Given the description of an element on the screen output the (x, y) to click on. 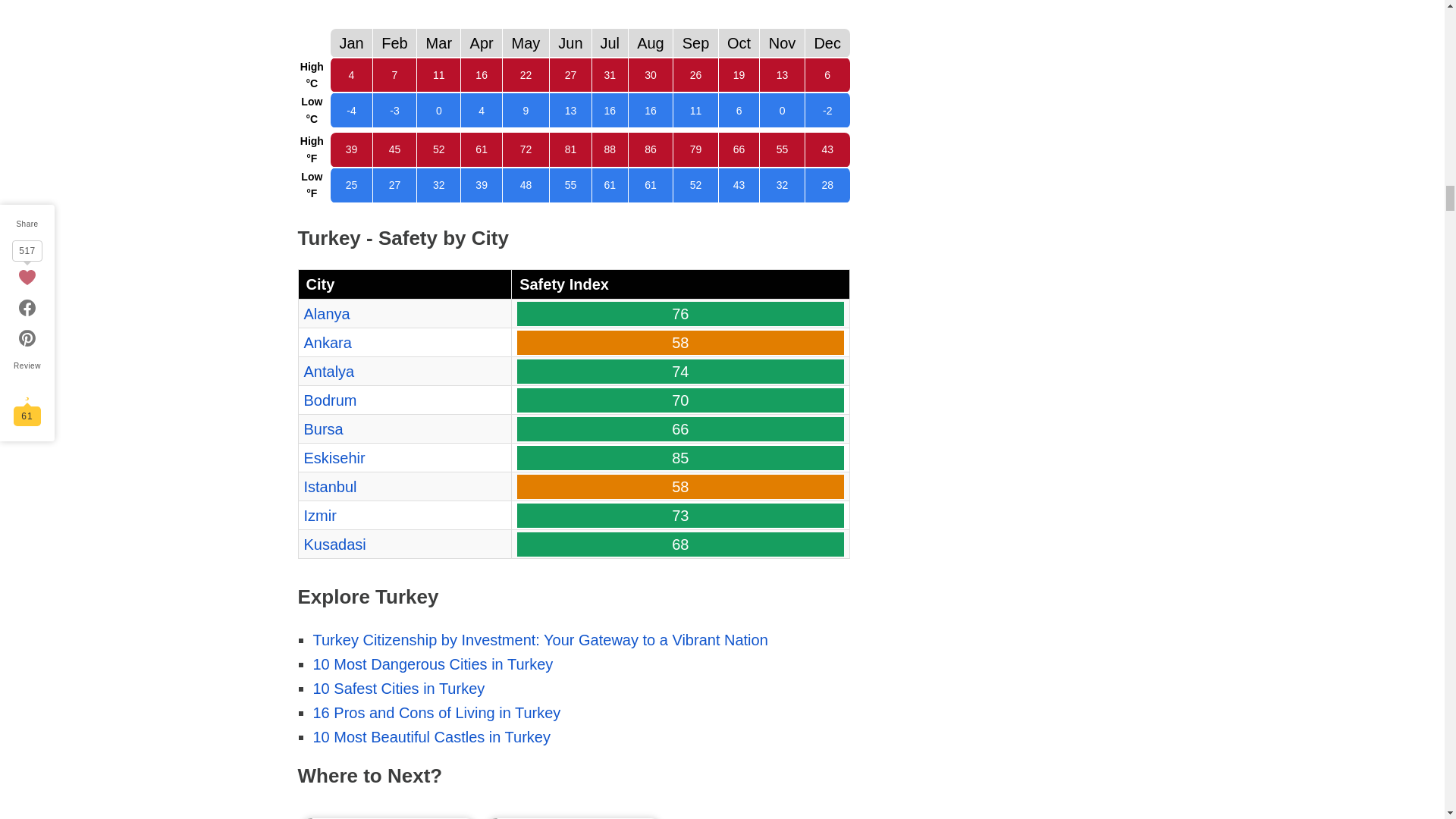
Alanya (325, 313)
